Given the description of an element on the screen output the (x, y) to click on. 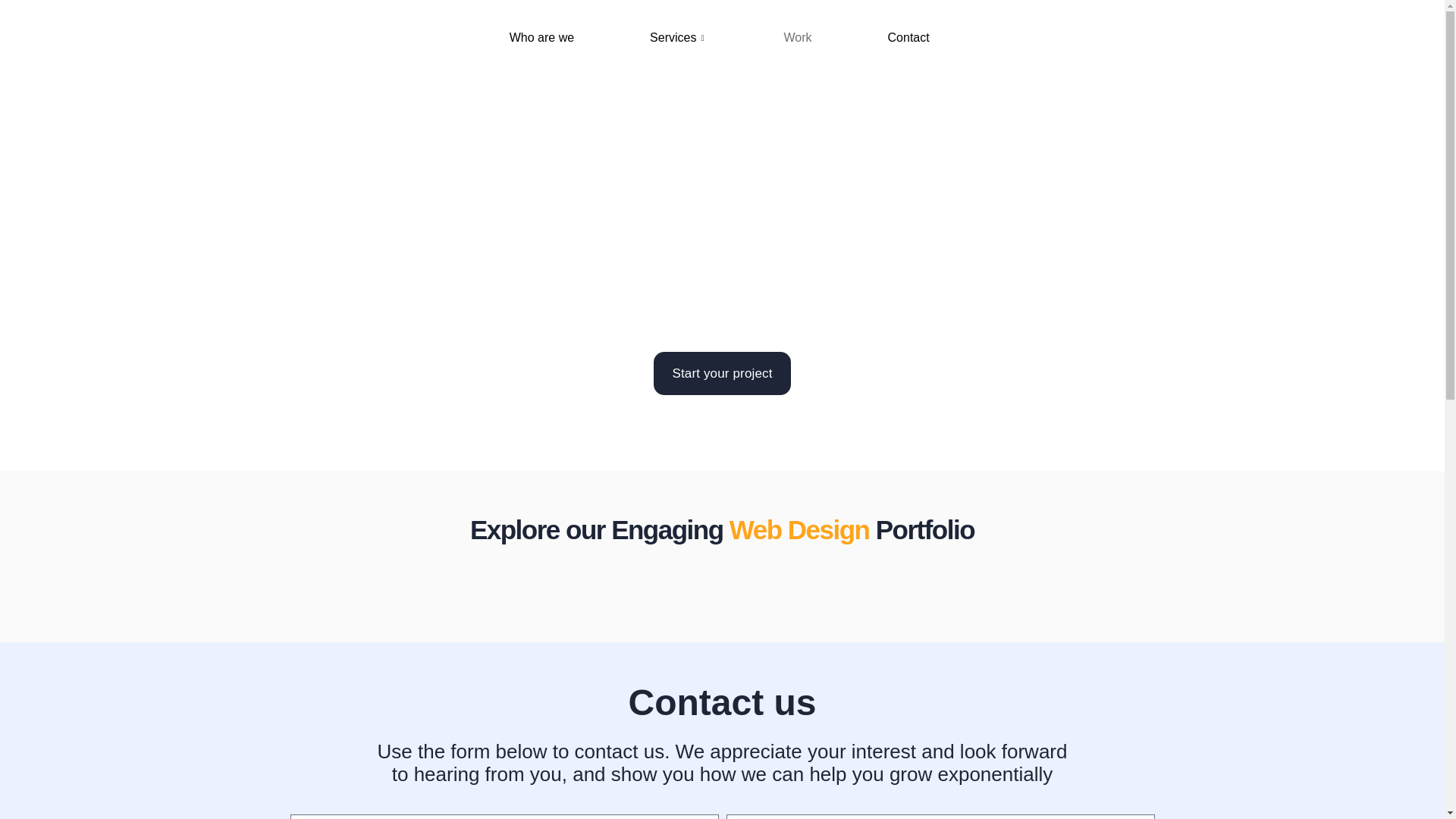
Start your project (721, 373)
Services (678, 37)
Contact (909, 37)
Who are we (541, 37)
Work (796, 37)
